Given the description of an element on the screen output the (x, y) to click on. 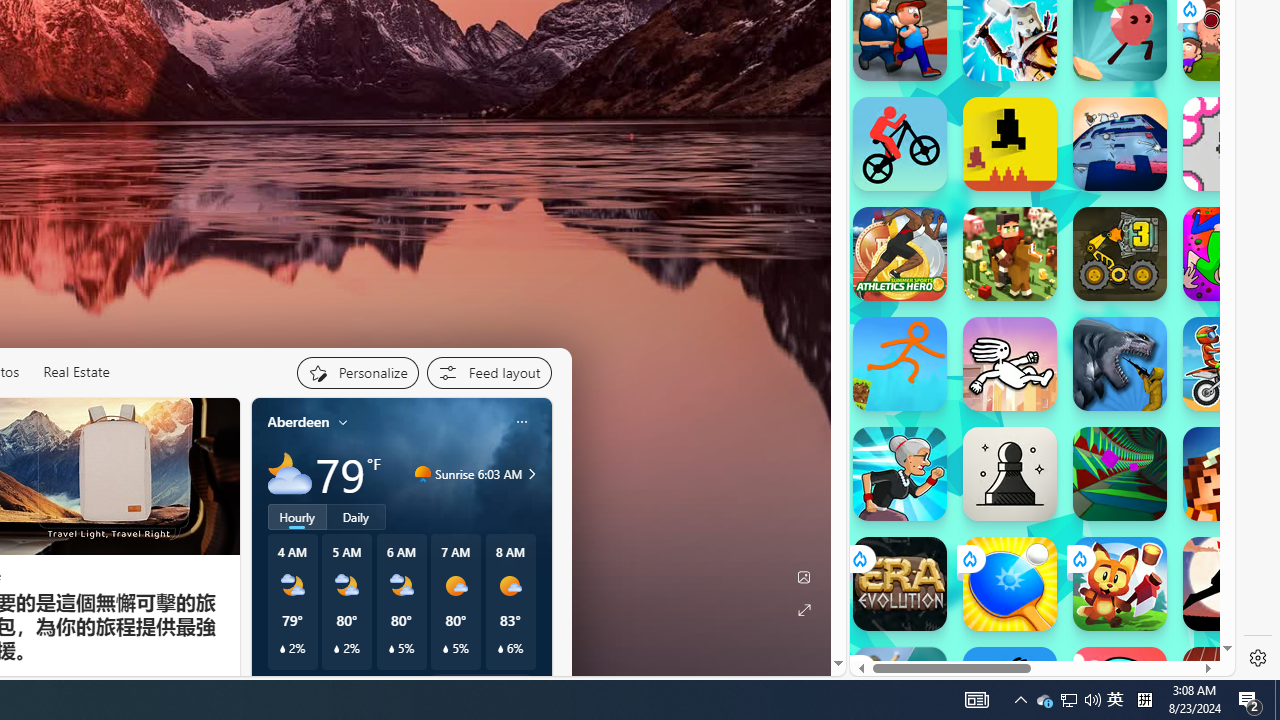
Edit Background (803, 577)
Moto X3M (1229, 363)
Sharkosaurus Rampage Sharkosaurus Rampage (1119, 363)
Classic Chess Classic Chess (1009, 473)
Tunnel Rush (1119, 473)
Combat Reloaded (1090, 324)
Stickman Parkour Skyland Stickman Parkour Skyland (899, 363)
Sunrise 6:03 AM (529, 474)
Level Devil (1009, 143)
Aberdeen (298, 422)
